Given the description of an element on the screen output the (x, y) to click on. 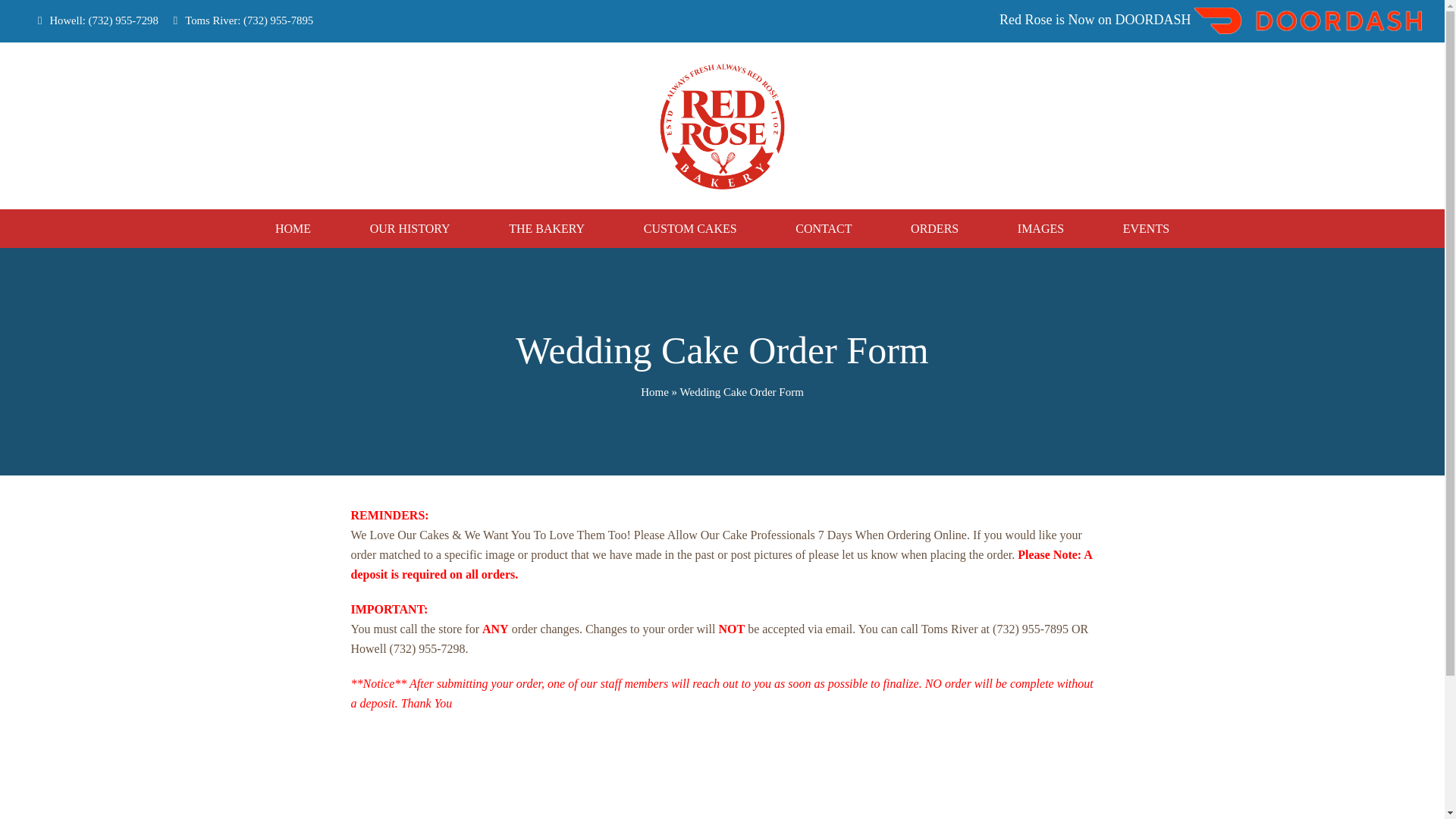
OUR HISTORY (410, 228)
CONTACT (823, 228)
THE BAKERY (546, 228)
HOME (293, 228)
CUSTOM CAKES (689, 228)
